Given the description of an element on the screen output the (x, y) to click on. 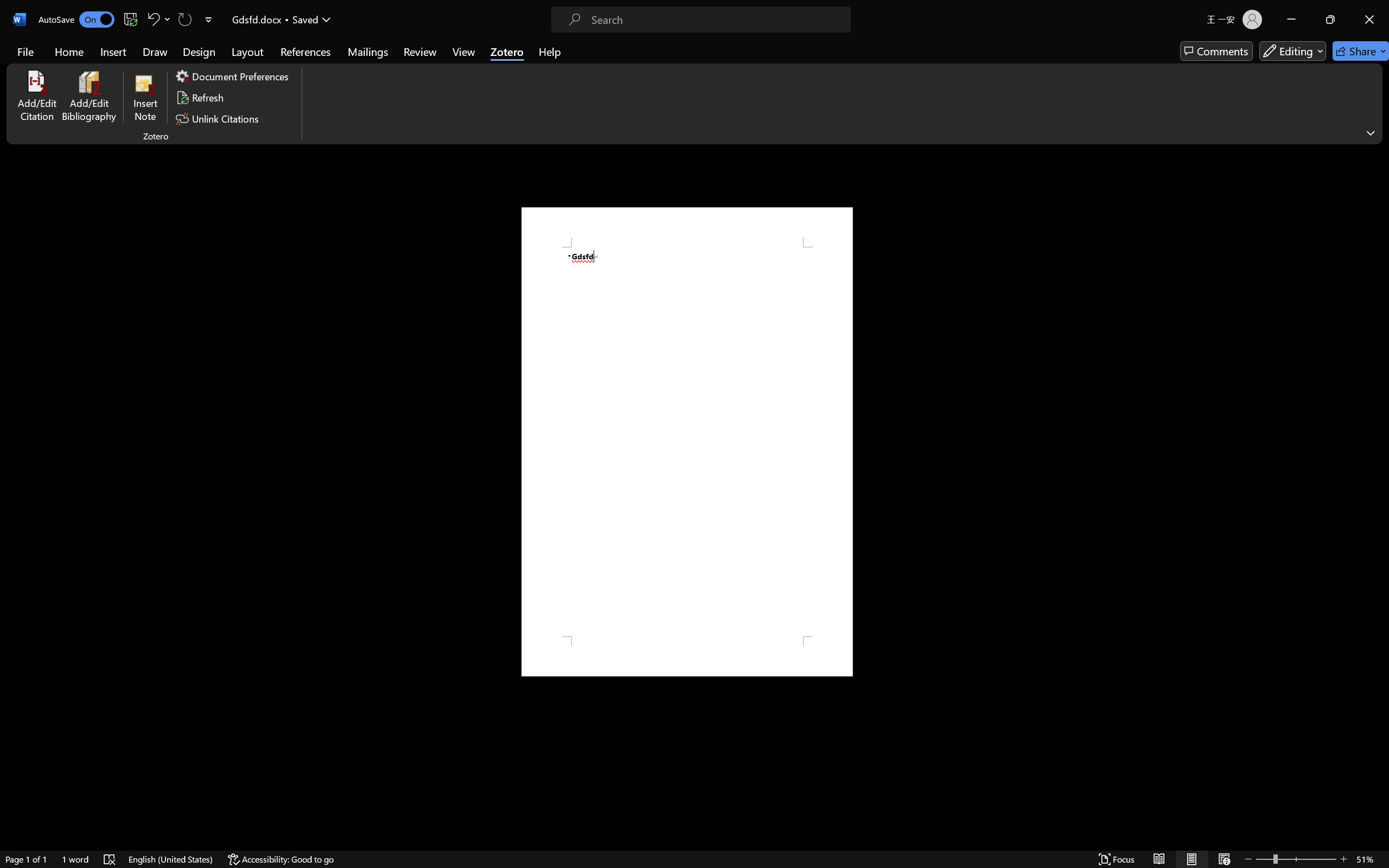
Page 1 content (686, 441)
